Given the description of an element on the screen output the (x, y) to click on. 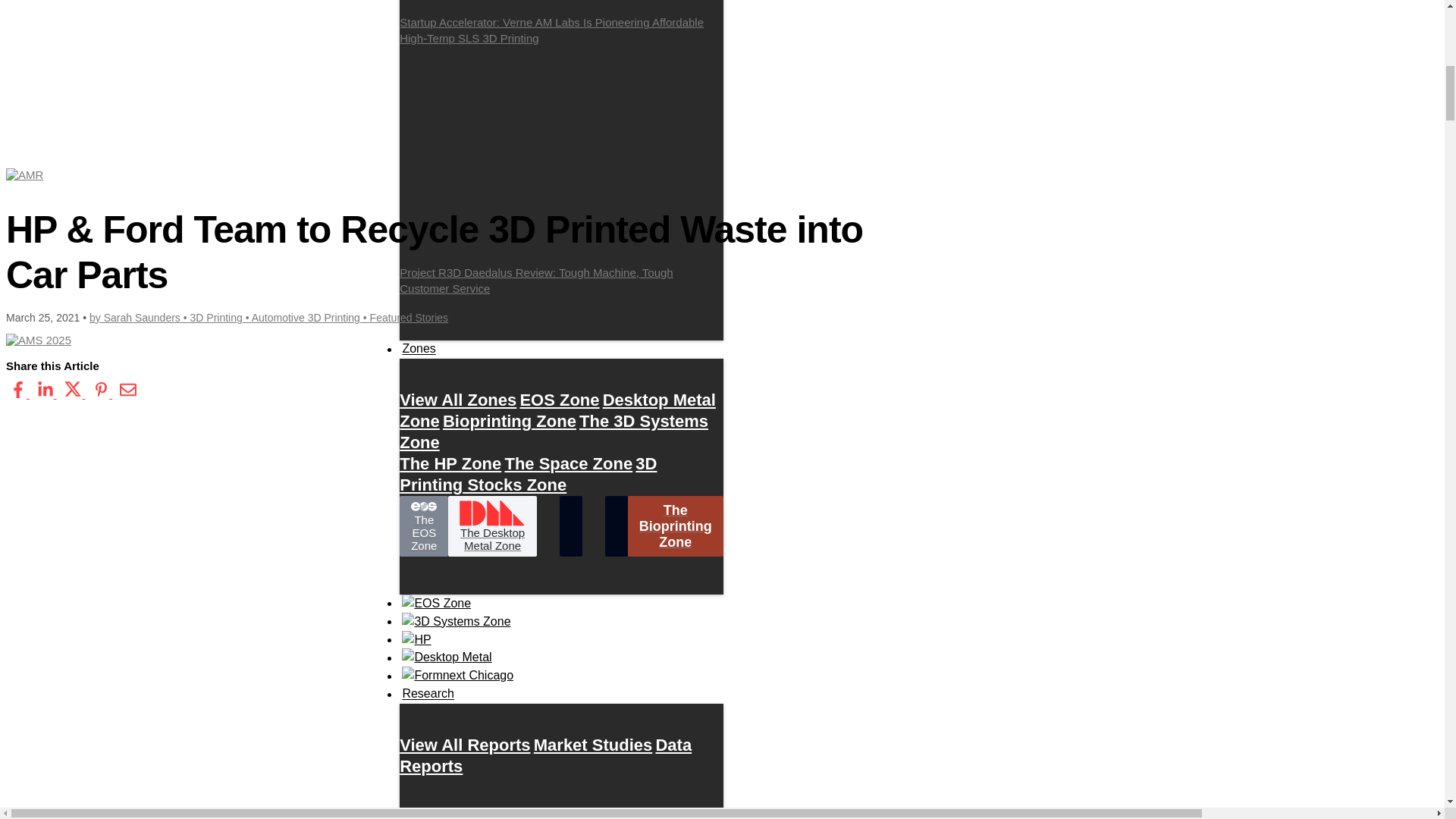
Bioprinting Zone (509, 421)
3D Printing Stocks Zone (527, 474)
Desktop Metal Zone (557, 410)
The Desktop Metal Zone (491, 526)
The 3D Systems Zone (552, 431)
Zones (418, 348)
View All Zones (457, 399)
The HP Zone (449, 463)
EOS Zone (558, 399)
The Space Zone (567, 463)
